Given the description of an element on the screen output the (x, y) to click on. 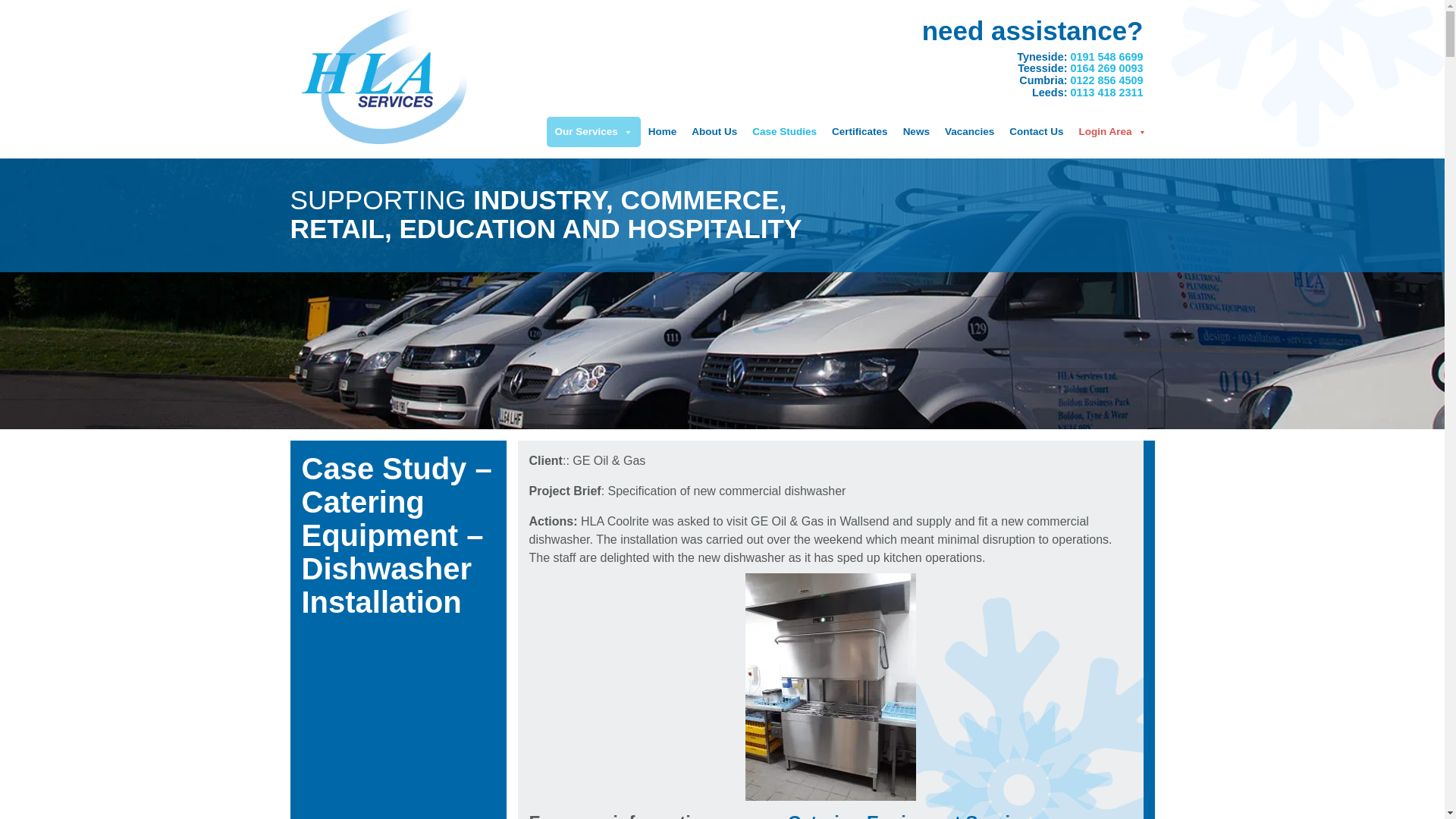
0164 269 0093 (1106, 68)
Catering Equipment Services (914, 815)
Contact Us (1035, 132)
Vacancies (969, 132)
HLA Services (384, 73)
0191 548 6699 (1106, 55)
About Us (714, 132)
Our Services (593, 132)
Certificates (859, 132)
Home (662, 132)
